Given the description of an element on the screen output the (x, y) to click on. 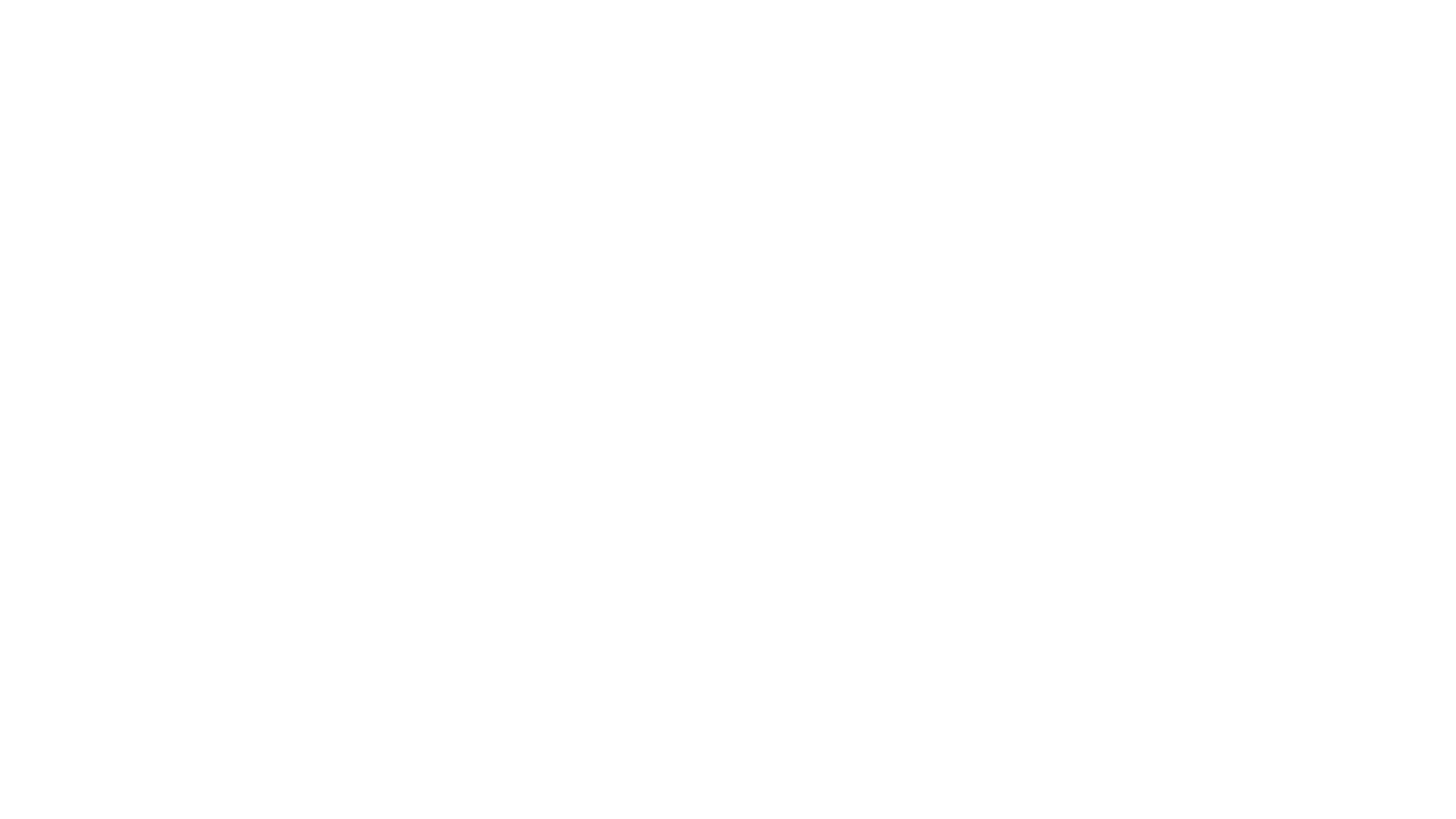
Cloudflare Element type: text (798, 799)
